Given the description of an element on the screen output the (x, y) to click on. 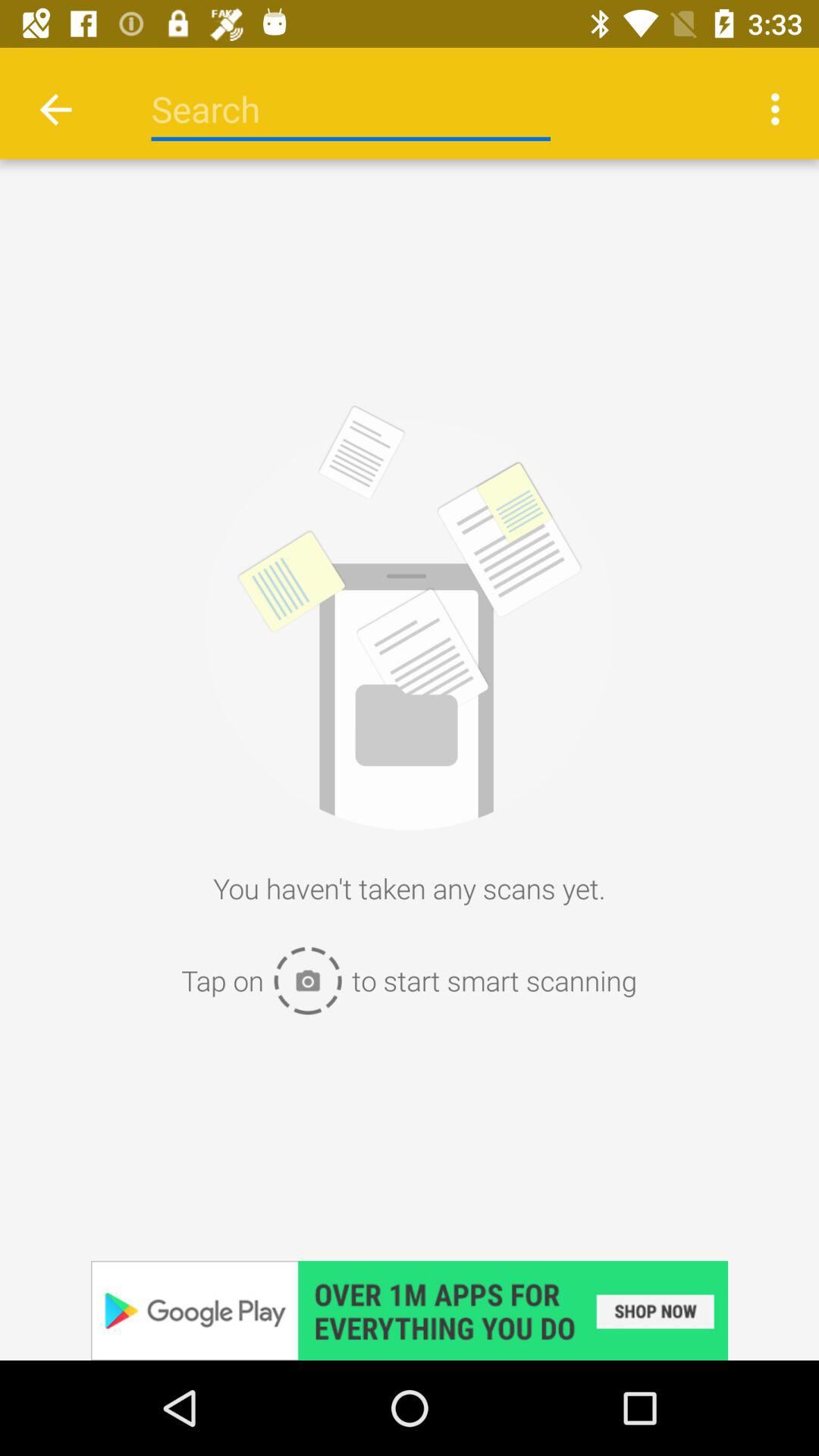
open google play (409, 1310)
